Given the description of an element on the screen output the (x, y) to click on. 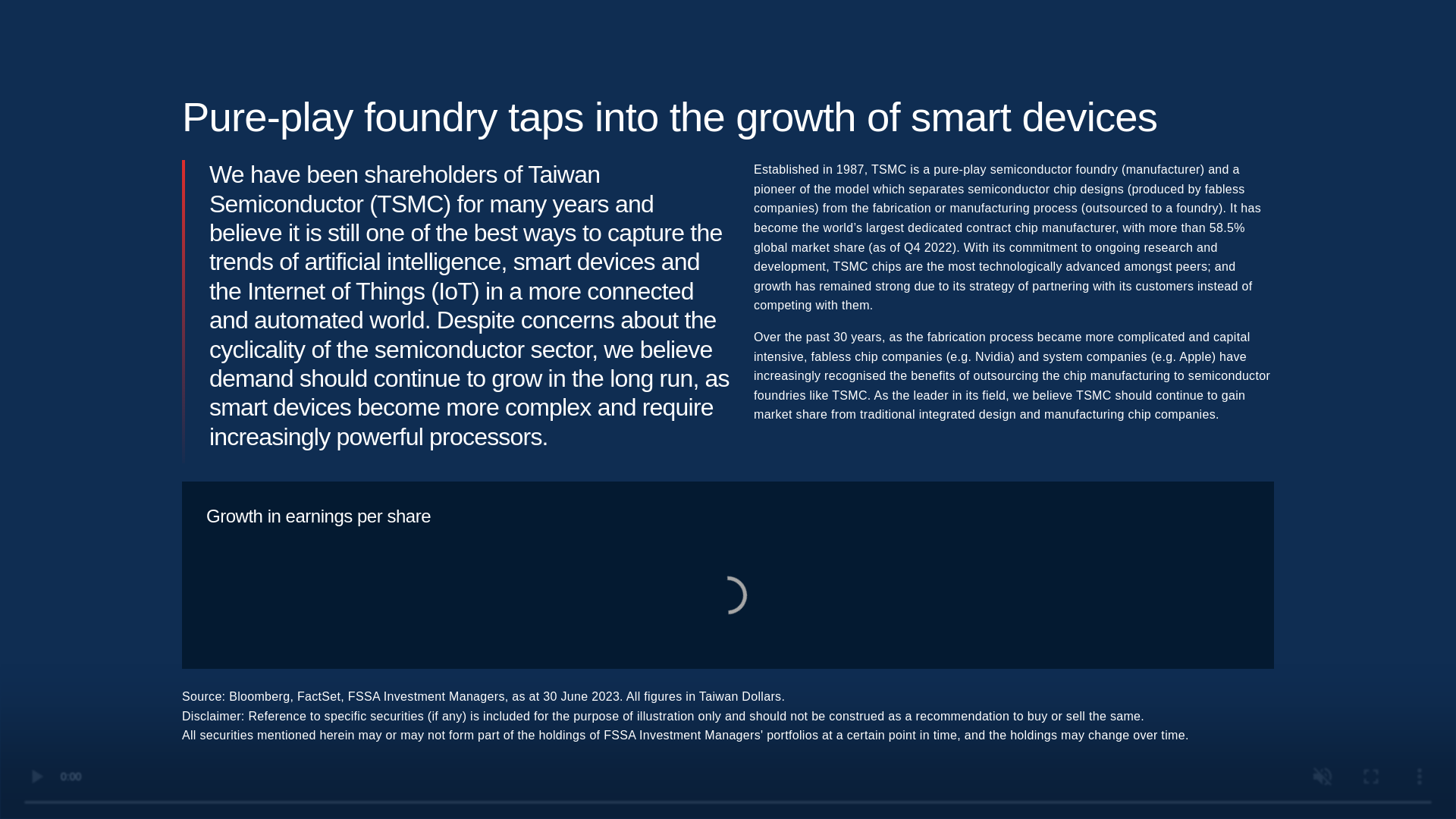
Growth in earnings per share (727, 595)
FSSA Investment Managers (240, 59)
